Given the description of an element on the screen output the (x, y) to click on. 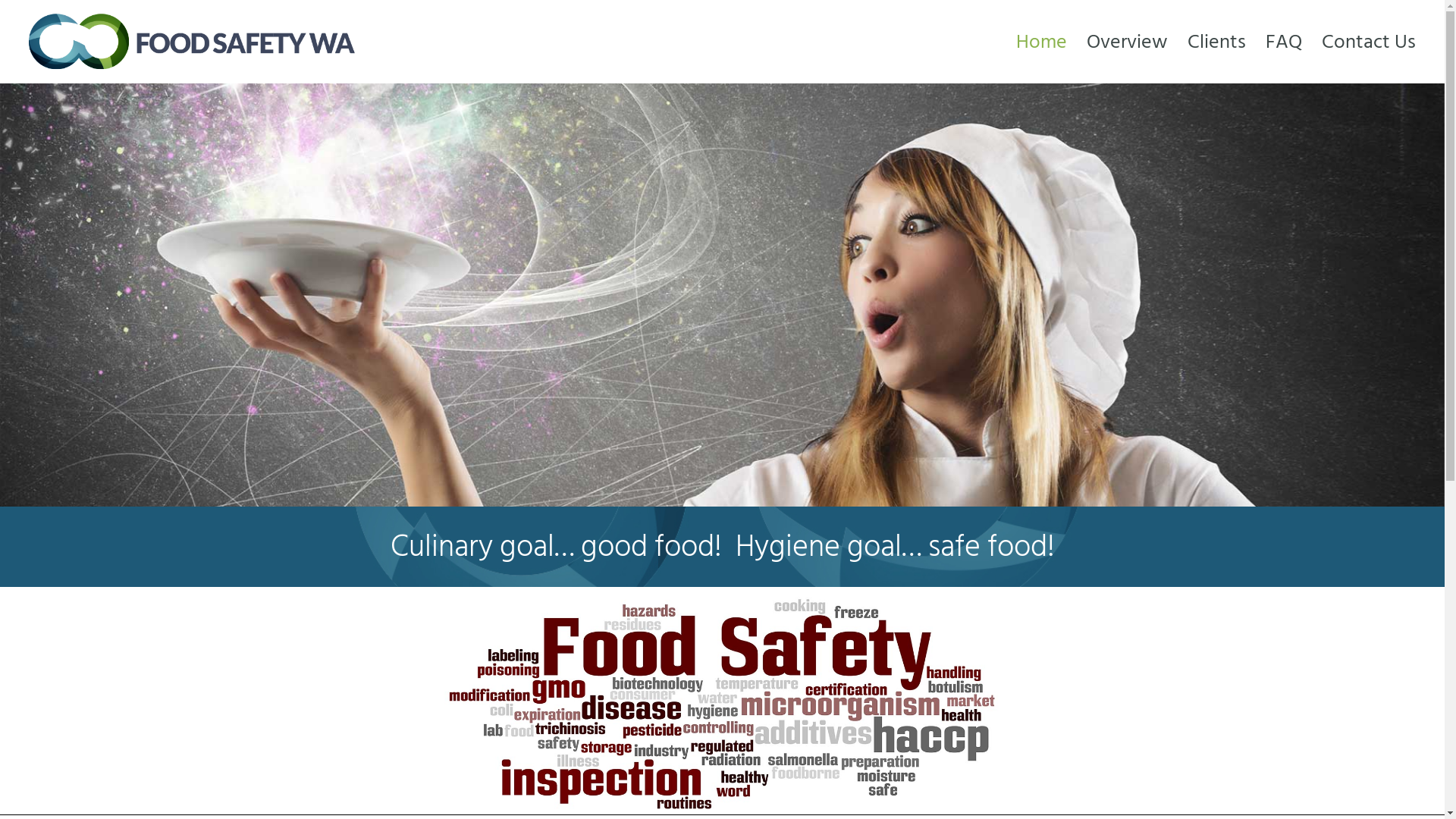
Home Element type: text (1041, 41)
Clients Element type: text (1216, 41)
Contact Us Element type: text (1363, 41)
FAQ Element type: text (1283, 41)
Overview Element type: text (1126, 41)
Haccp Food Safety Management System Element type: hover (722, 293)
